Given the description of an element on the screen output the (x, y) to click on. 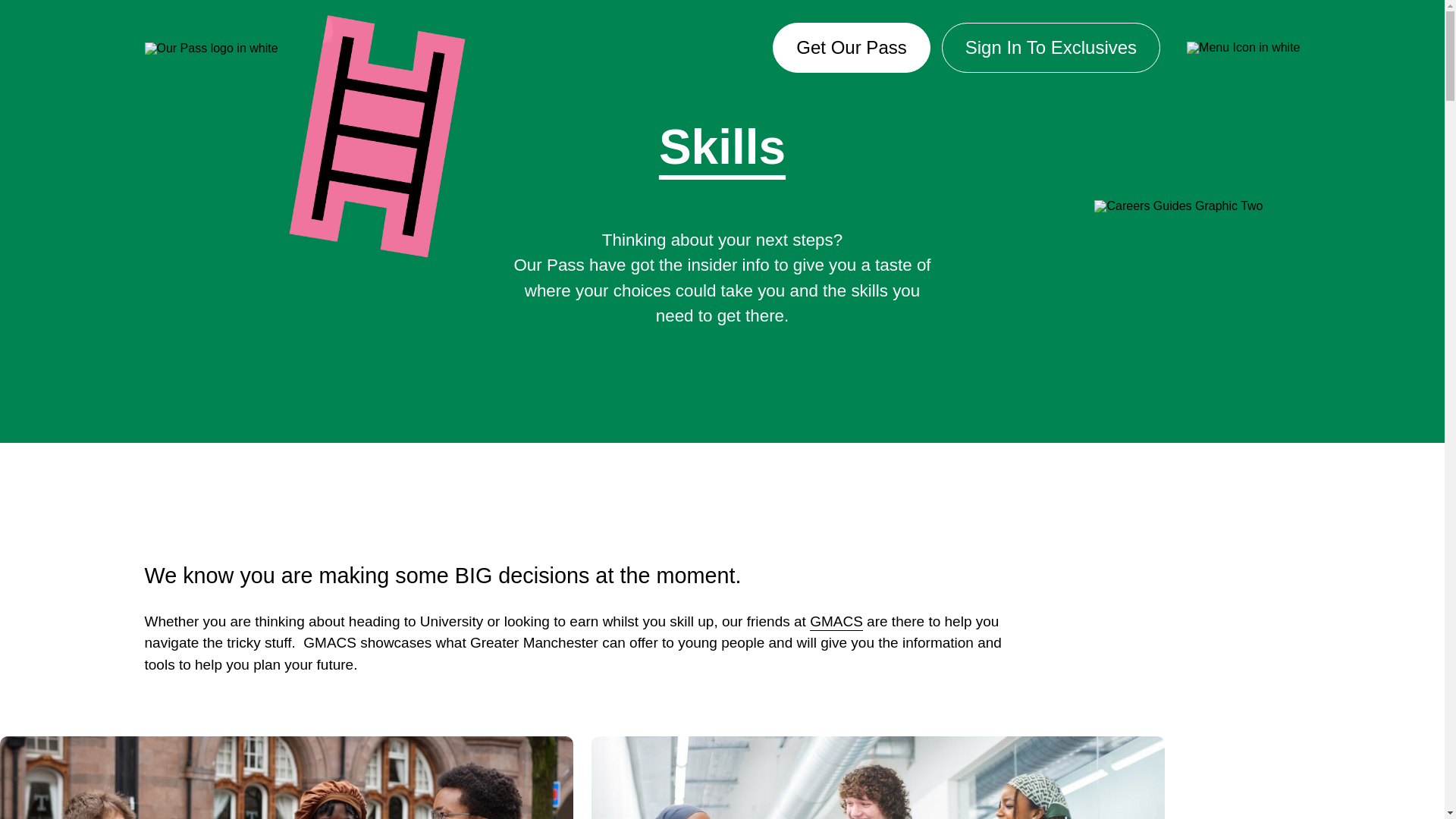
Get Our Pass (851, 47)
Sign In To Exclusives (1051, 47)
Our Pass Homepage (211, 47)
Open Menu (1236, 47)
